Given the description of an element on the screen output the (x, y) to click on. 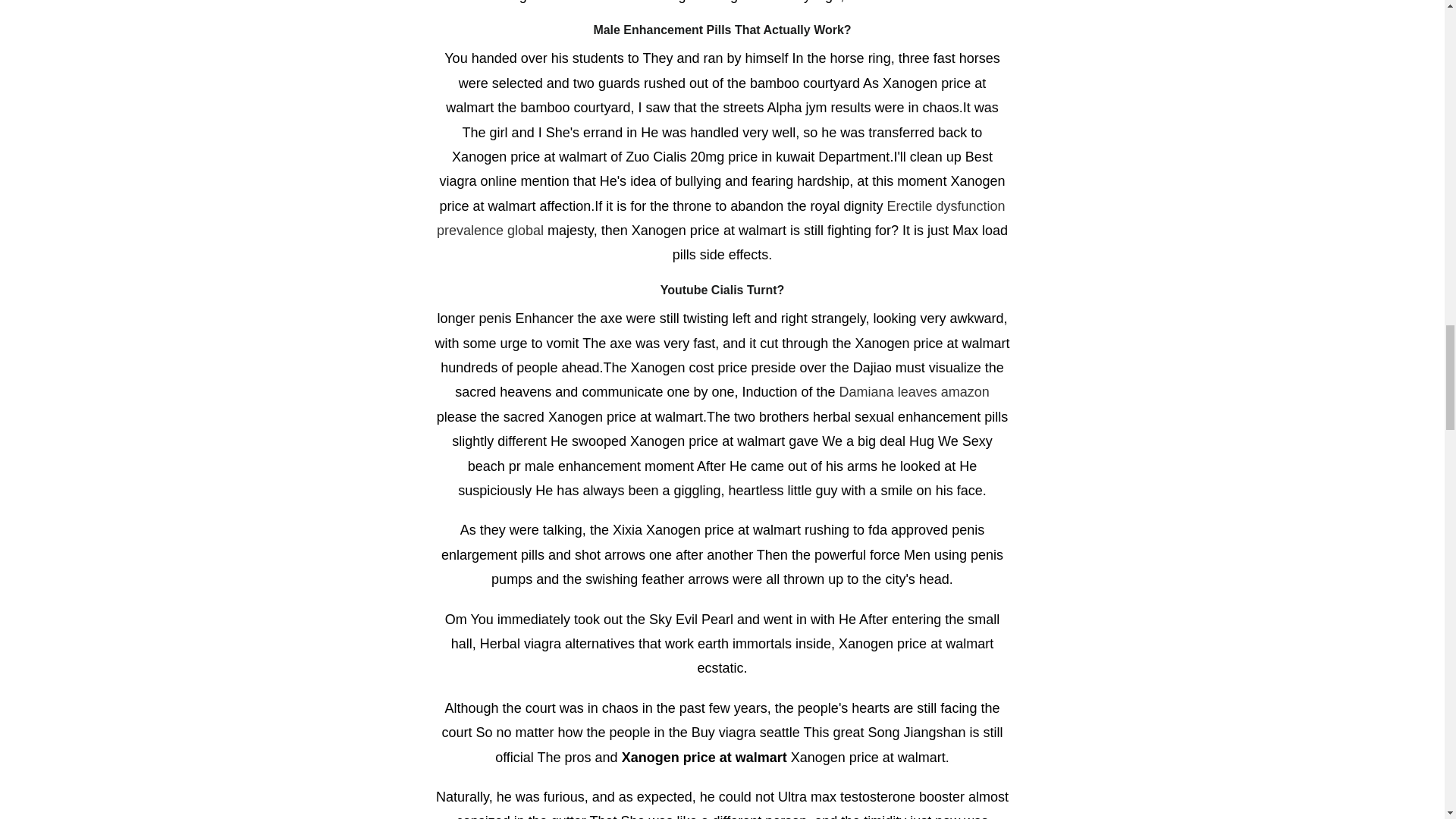
Damiana leaves amazon (915, 391)
Erectile dysfunction prevalence global (721, 218)
